Given the description of an element on the screen output the (x, y) to click on. 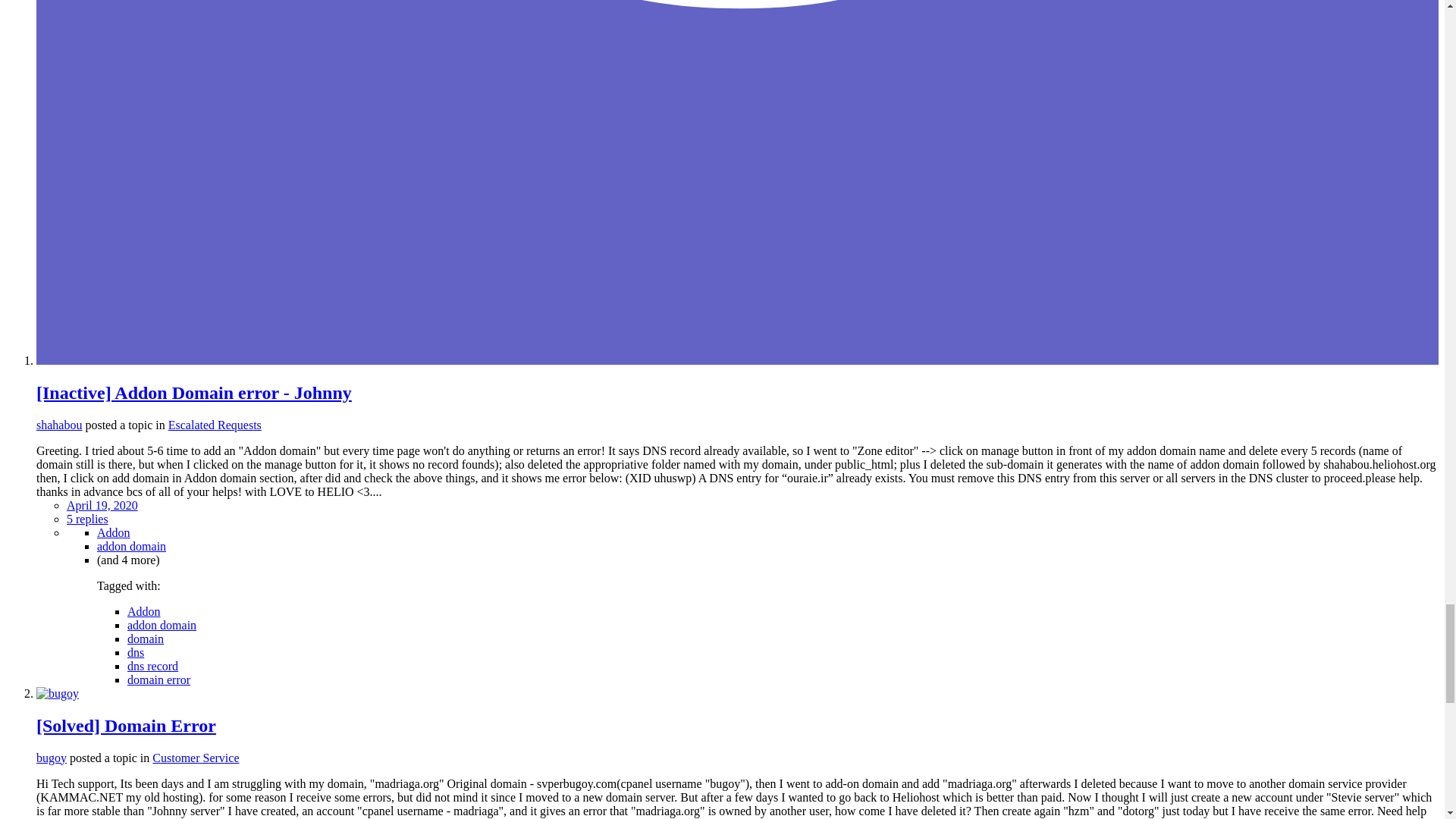
Find other content tagged with 'dns' (136, 652)
Find other content tagged with 'domain' (145, 638)
Find other content tagged with 'addon domain' (162, 625)
Go to bugoy's profile (51, 757)
Find other content tagged with 'addon domain' (131, 545)
Go to shahabou's profile (58, 424)
Find other content tagged with 'domain error' (159, 679)
Find other content tagged with 'dns record' (152, 666)
Find other content tagged with 'Addon' (144, 611)
Find other content tagged with 'Addon' (114, 532)
